Given the description of an element on the screen output the (x, y) to click on. 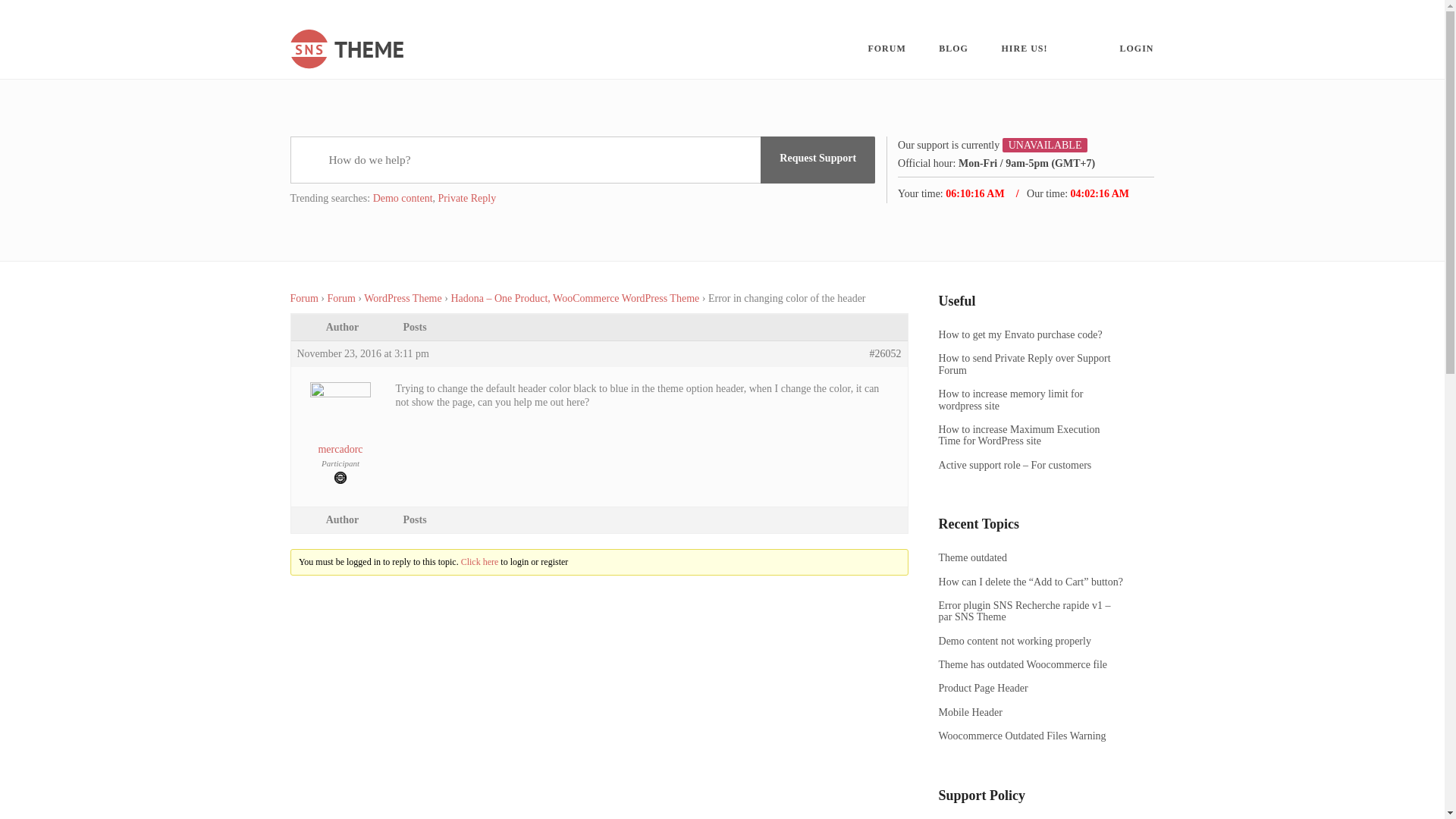
Theme outdated (1031, 557)
Forum (303, 297)
HIRE US! (1024, 48)
Private Reply (467, 197)
Product Page Header (1031, 687)
How to get my Envato purchase code? (1031, 334)
Please login to make request support. (817, 159)
FORUM (885, 48)
How to increase Maximum Execution Time for WordPress site (1031, 435)
Demo content (402, 197)
How to send Private Reply over Support Forum (1031, 363)
Click here (480, 561)
demo content not working properly (1031, 641)
Request Support (817, 159)
WordPress Theme (402, 297)
